Given the description of an element on the screen output the (x, y) to click on. 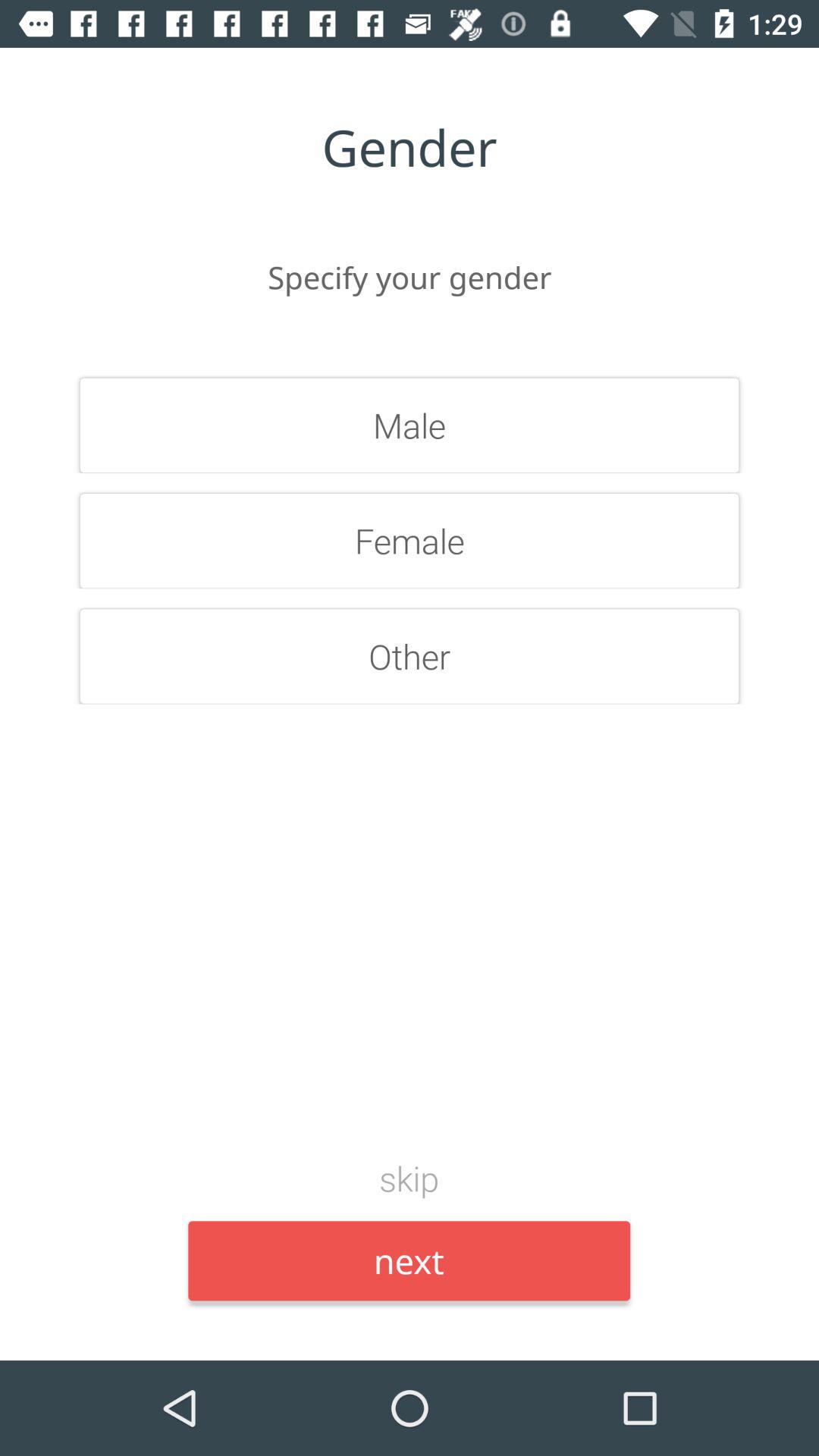
click the item above the next (409, 1178)
